Given the description of an element on the screen output the (x, y) to click on. 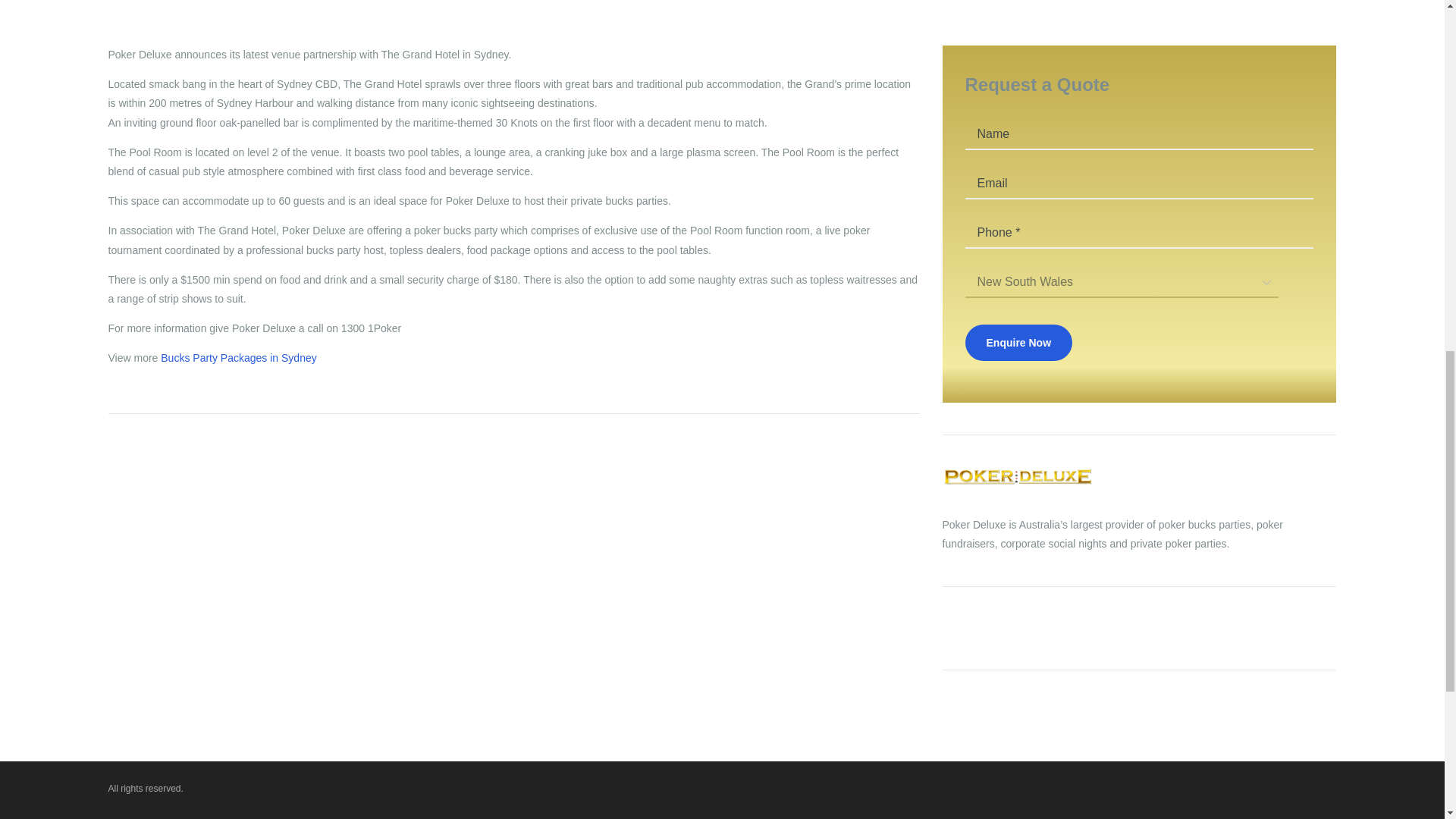
Enquire Now (1017, 342)
Poker Deluxe Logo (1017, 476)
